Given the description of an element on the screen output the (x, y) to click on. 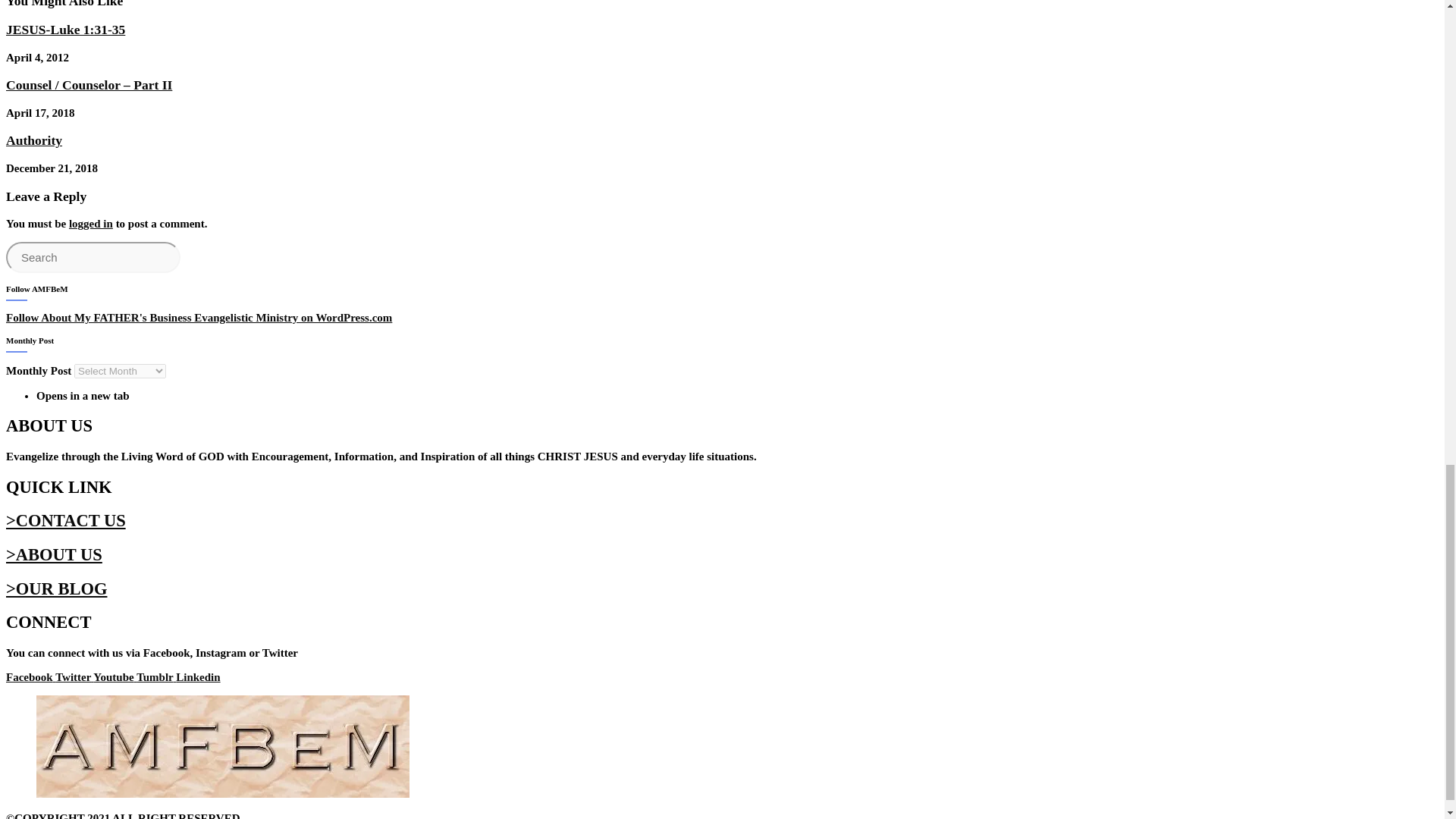
Authority (33, 140)
JESUS-Luke 1:31-35 (65, 29)
logged in (90, 223)
